Given the description of an element on the screen output the (x, y) to click on. 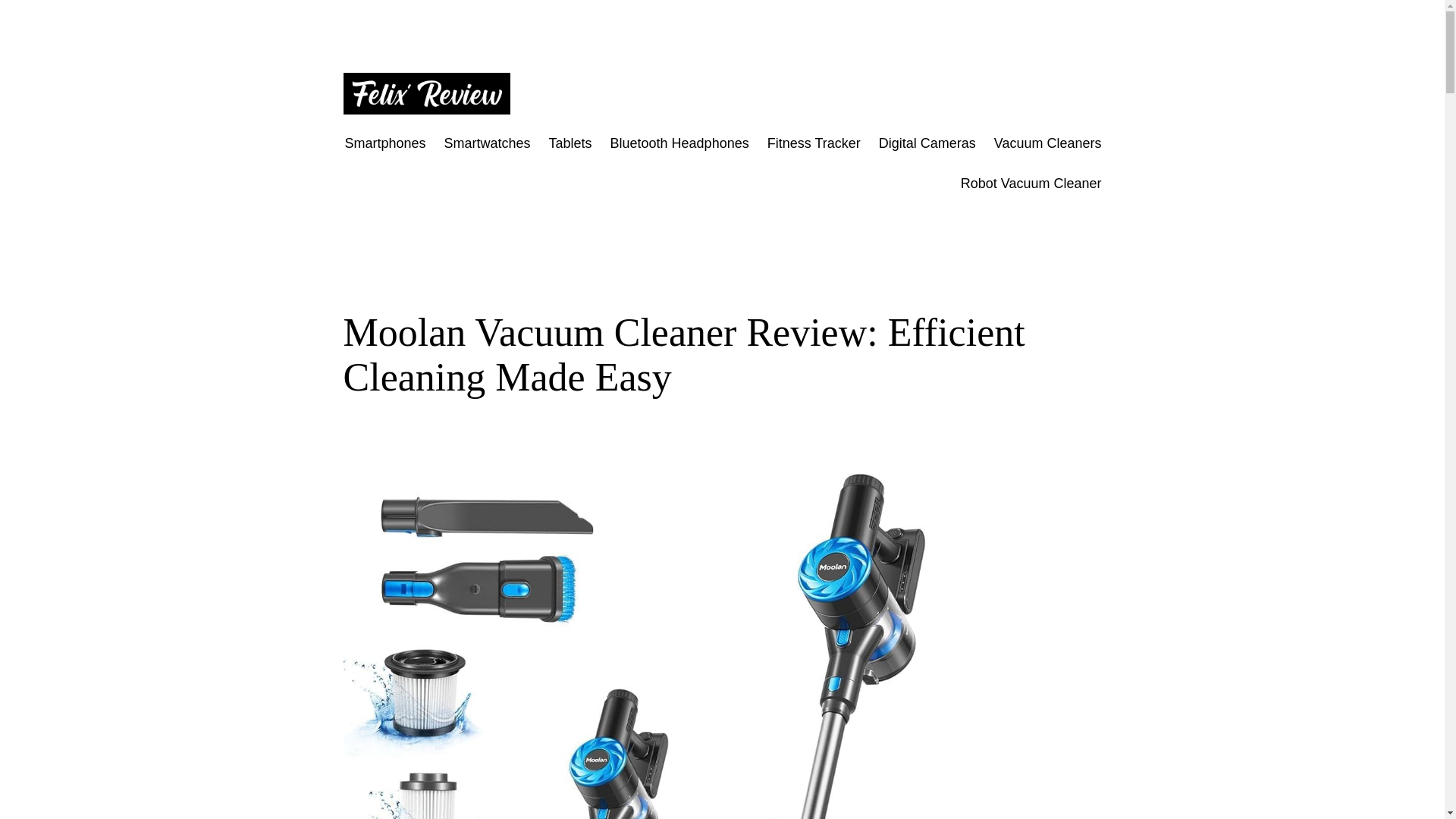
Fitness Tracker (813, 143)
Bluetooth Headphones (679, 143)
Digital Cameras (927, 143)
Smartphones (384, 143)
Vacuum Cleaners (1048, 143)
Smartwatches (486, 143)
Robot Vacuum Cleaner (1031, 183)
Tablets (569, 143)
